Given the description of an element on the screen output the (x, y) to click on. 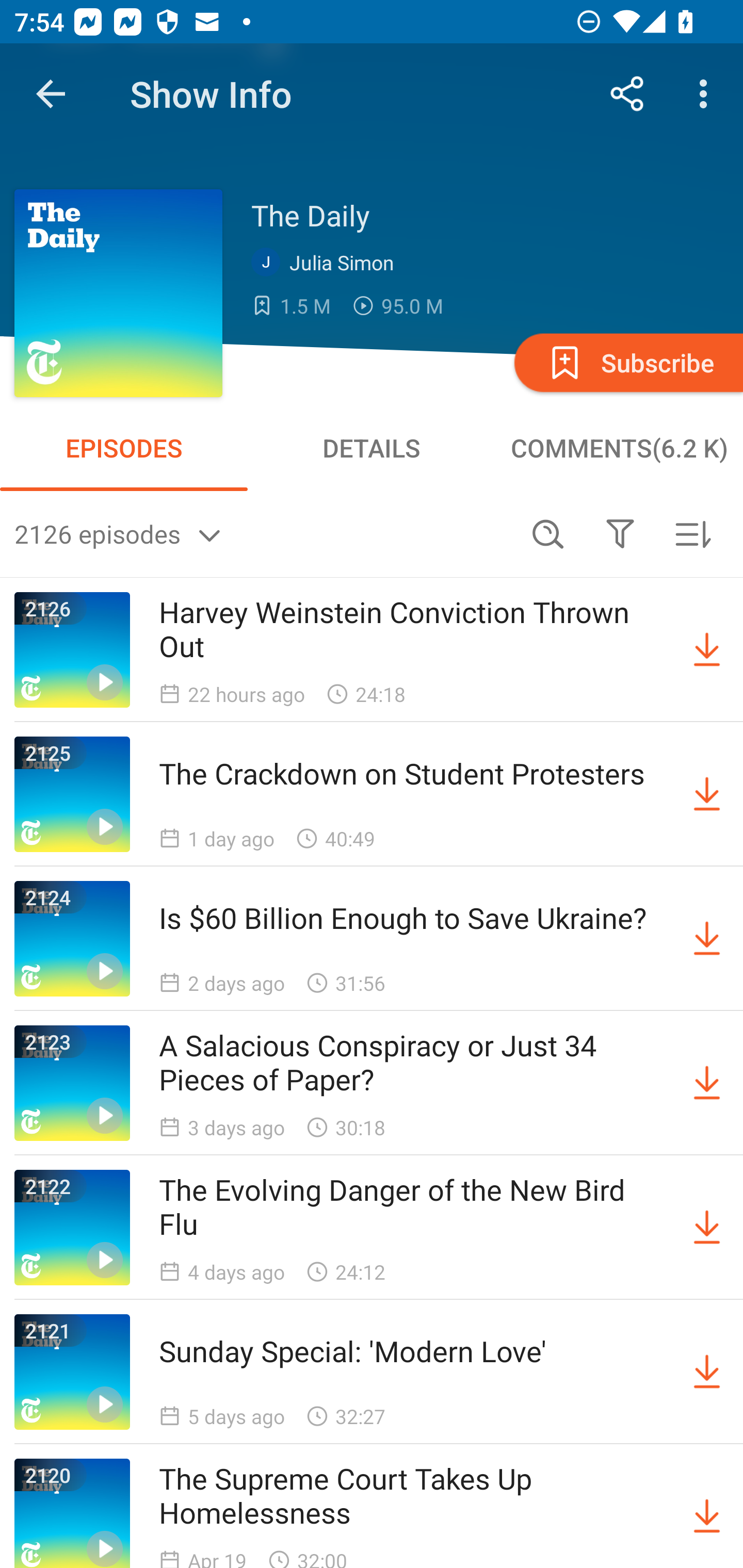
Navigate up (50, 93)
Share (626, 93)
More options (706, 93)
Julia Simon (327, 262)
Subscribe (627, 361)
EPISODES (123, 447)
DETAILS (371, 447)
COMMENTS(6.2 K) (619, 447)
2126 episodes  (262, 533)
 Search (547, 533)
 (619, 533)
 Sorted by newest first (692, 533)
Download (706, 649)
Download (706, 793)
Download (706, 939)
Download (706, 1083)
Download (706, 1227)
Download (706, 1371)
Download (706, 1513)
